Given the description of an element on the screen output the (x, y) to click on. 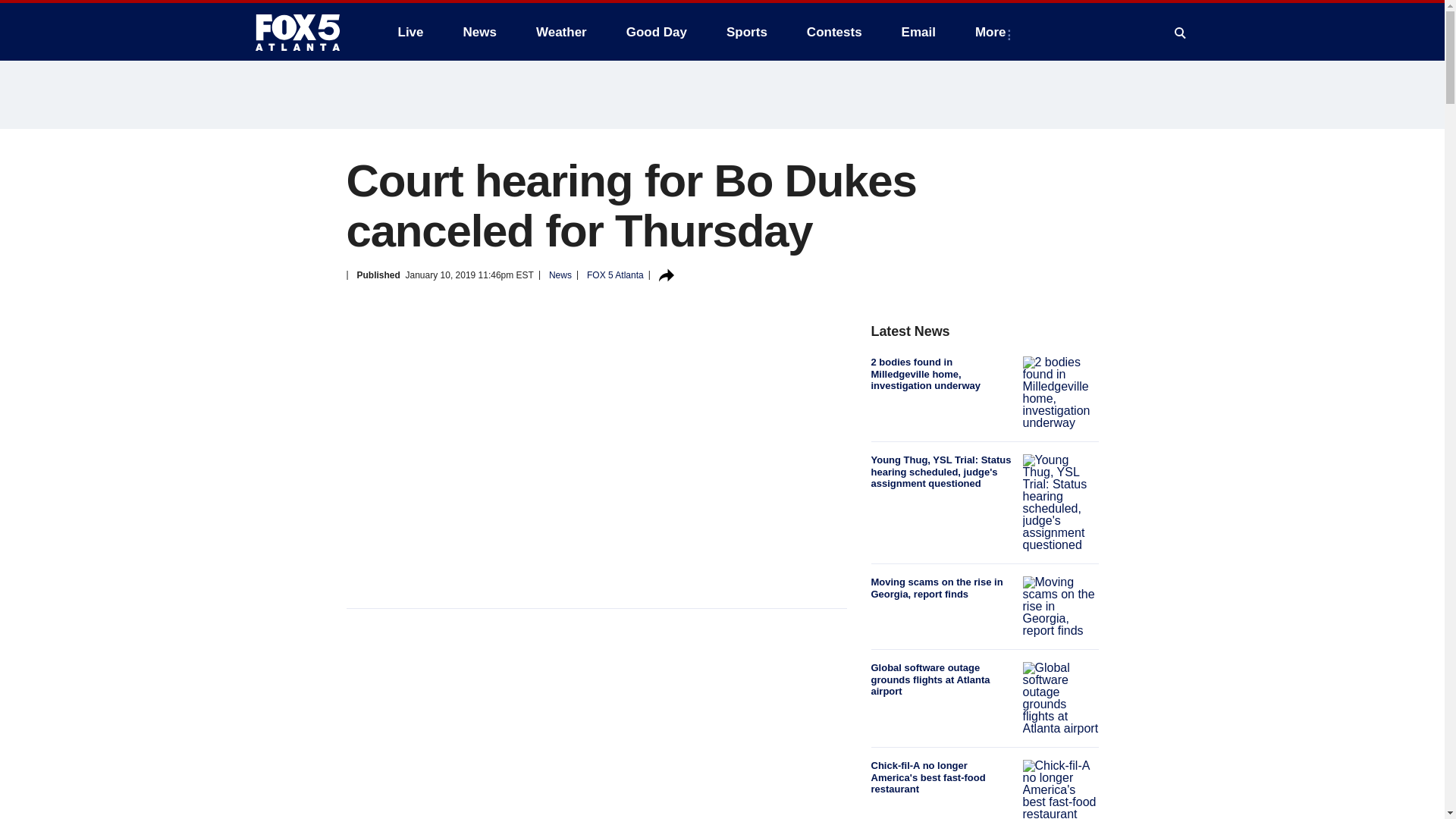
Weather (561, 32)
Good Day (656, 32)
News (479, 32)
Email (918, 32)
Sports (746, 32)
Live (410, 32)
More (993, 32)
Contests (834, 32)
